Given the description of an element on the screen output the (x, y) to click on. 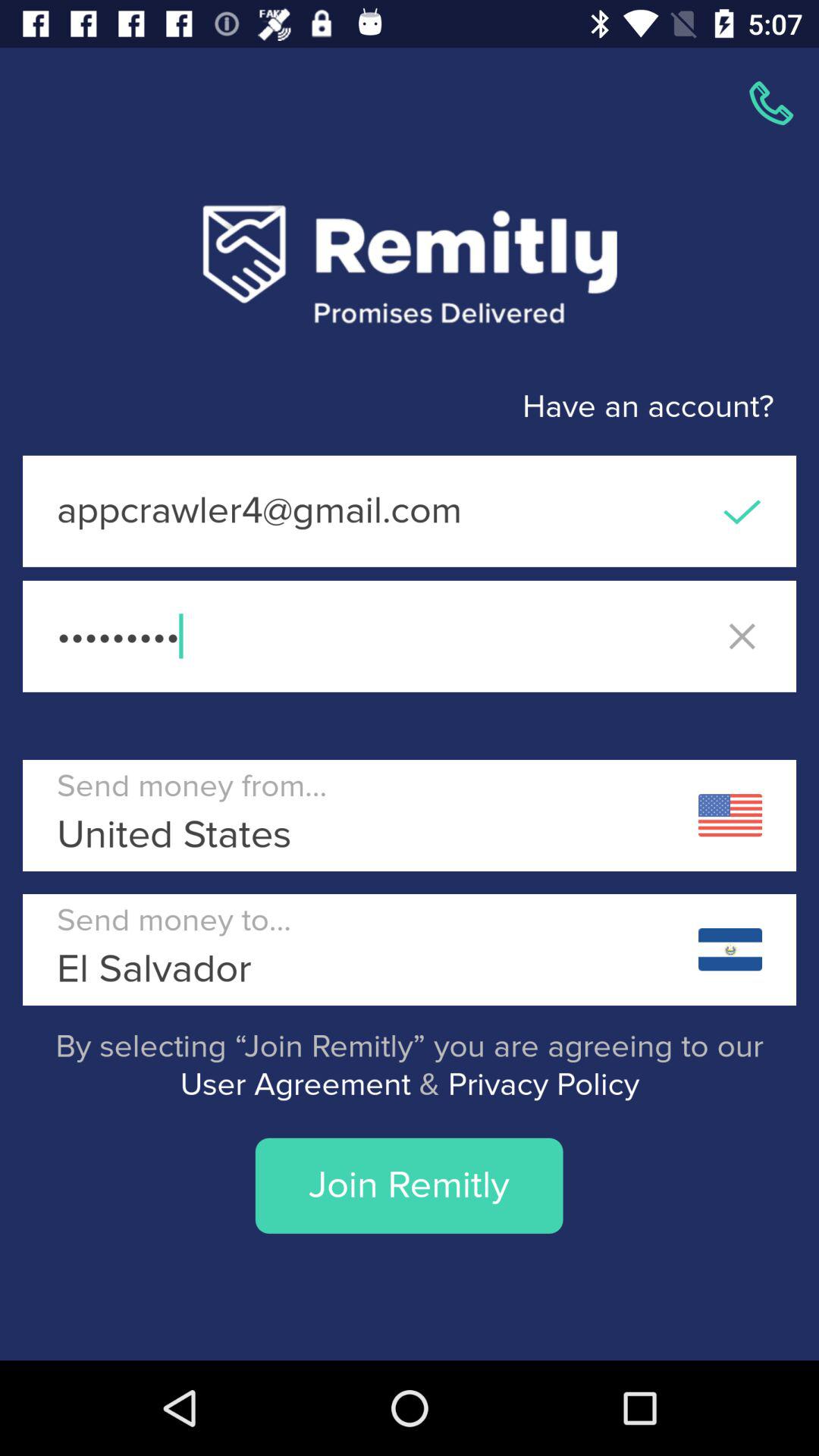
turn on item at the top right corner (771, 103)
